Given the description of an element on the screen output the (x, y) to click on. 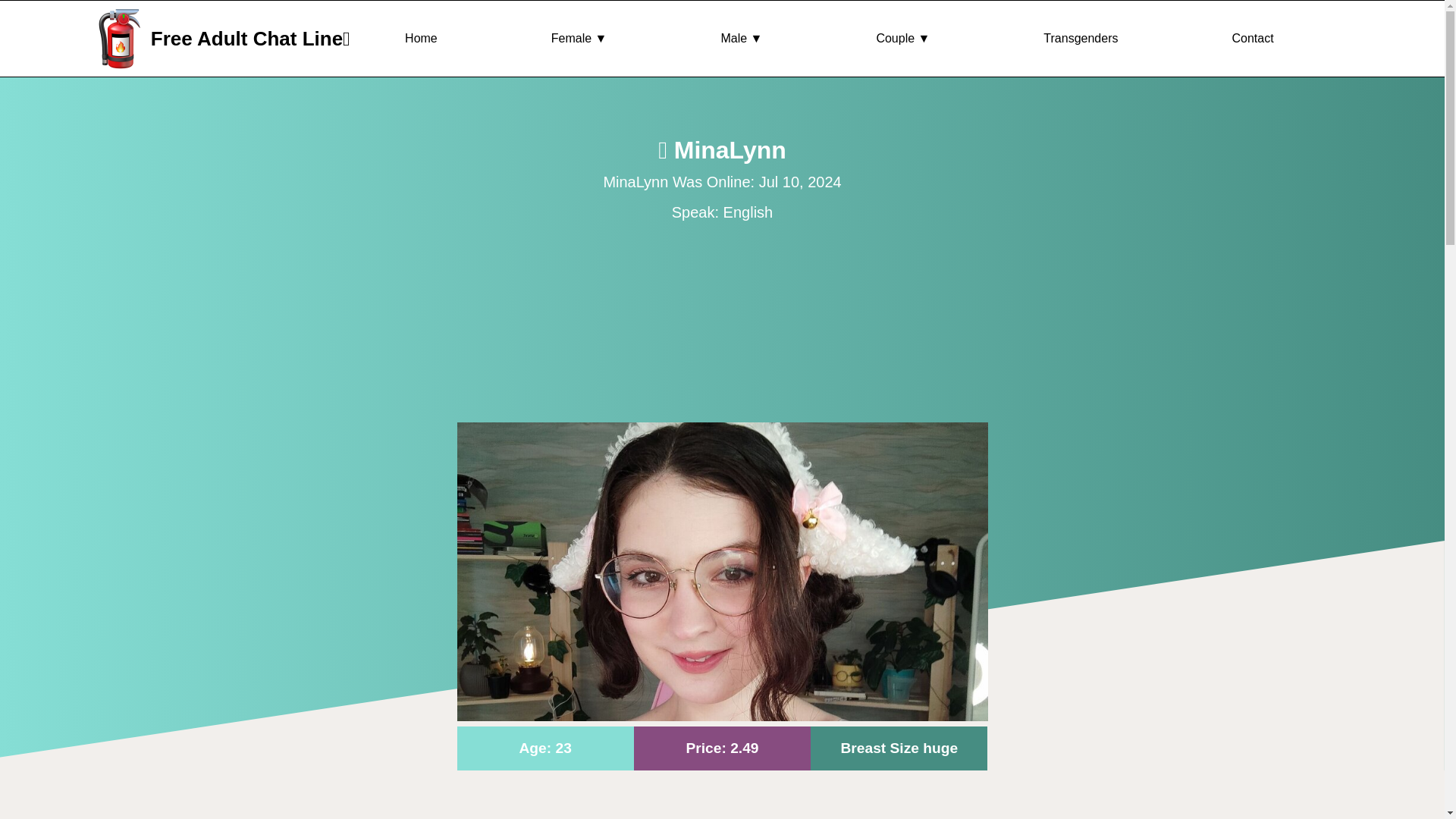
Home (421, 38)
Transgenders (1080, 38)
Couple ? (903, 38)
Male ? (740, 38)
Free Adult Chat Line? (250, 38)
Contact (1251, 38)
Transgenders (1080, 38)
Home (421, 38)
Free Adult Chat Line? (90, 38)
Female (579, 38)
Contact (1251, 38)
